Given the description of an element on the screen output the (x, y) to click on. 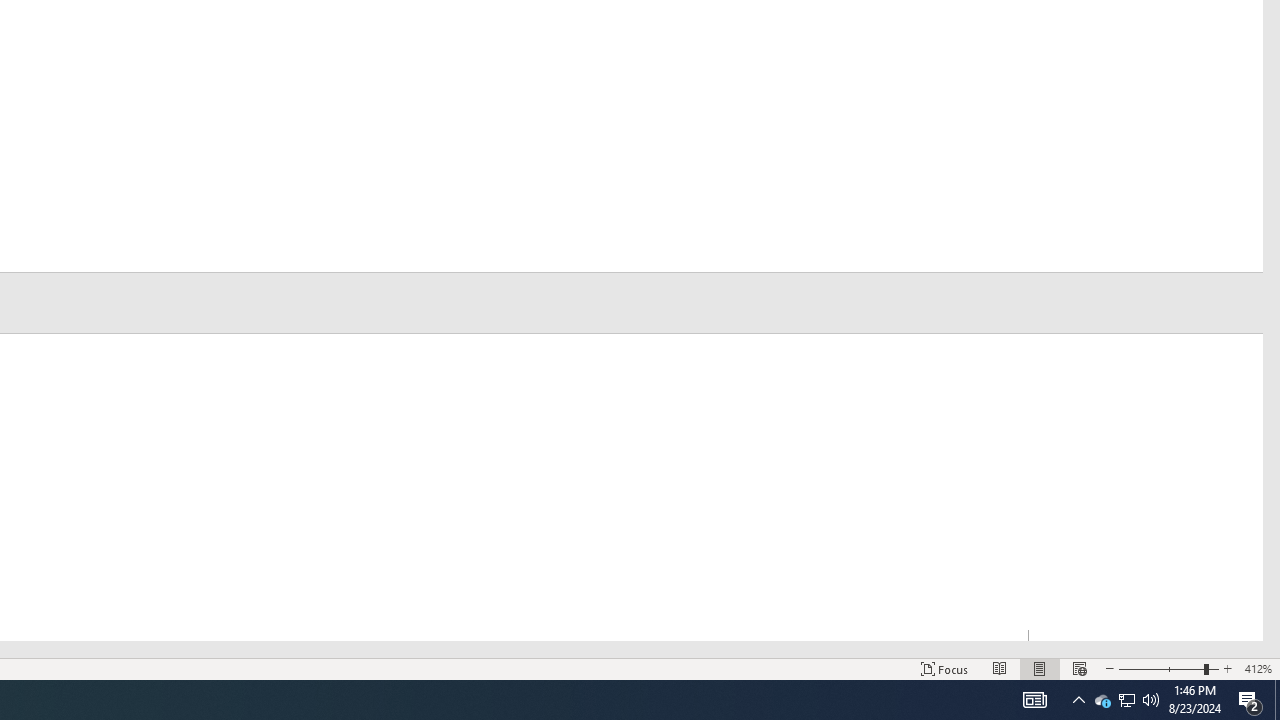
User Promoted Notification Area (1126, 699)
